Given the description of an element on the screen output the (x, y) to click on. 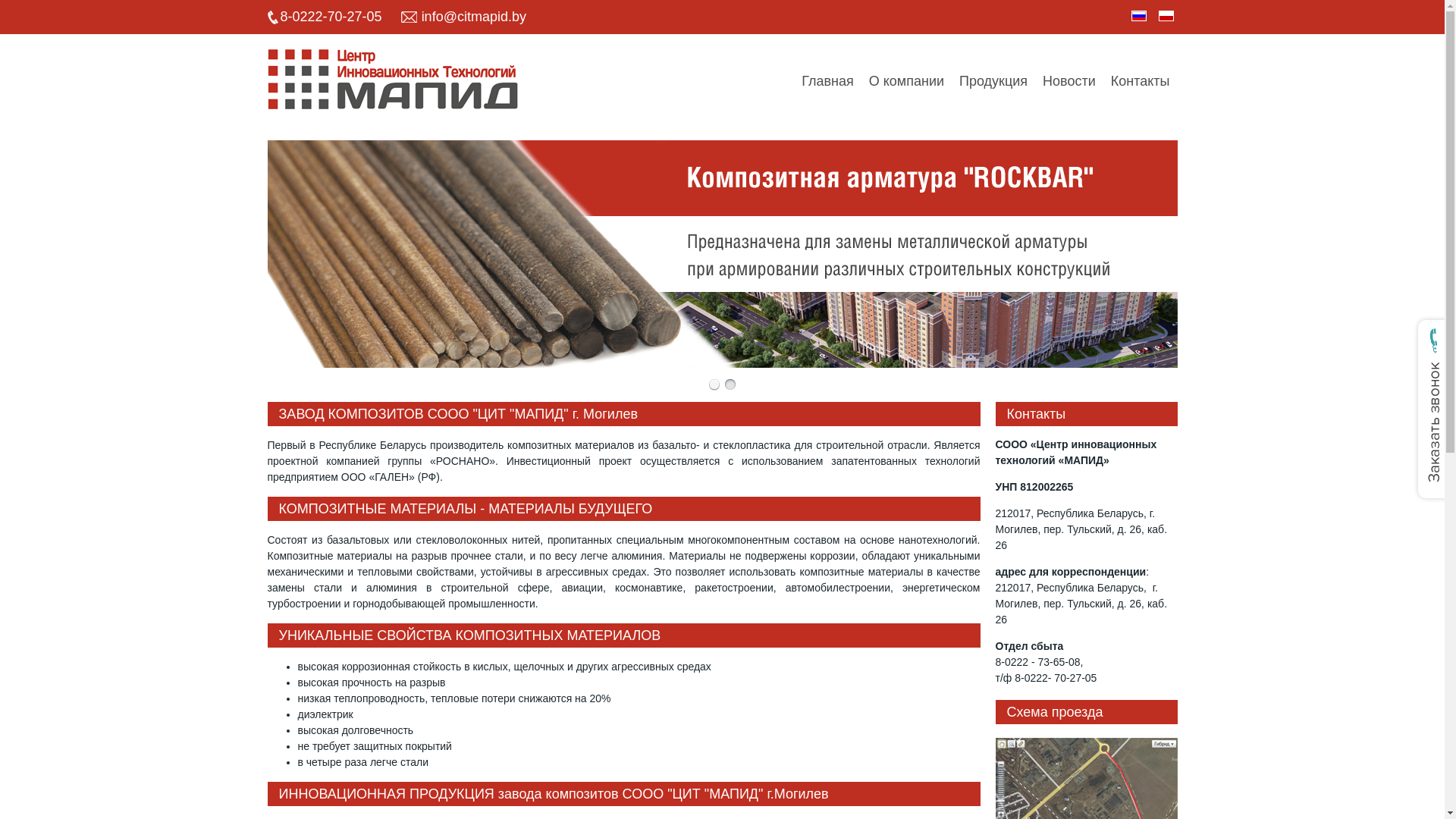
Polish Element type: hover (1165, 15)
info@citmapid.by Element type: text (471, 16)
